Given the description of an element on the screen output the (x, y) to click on. 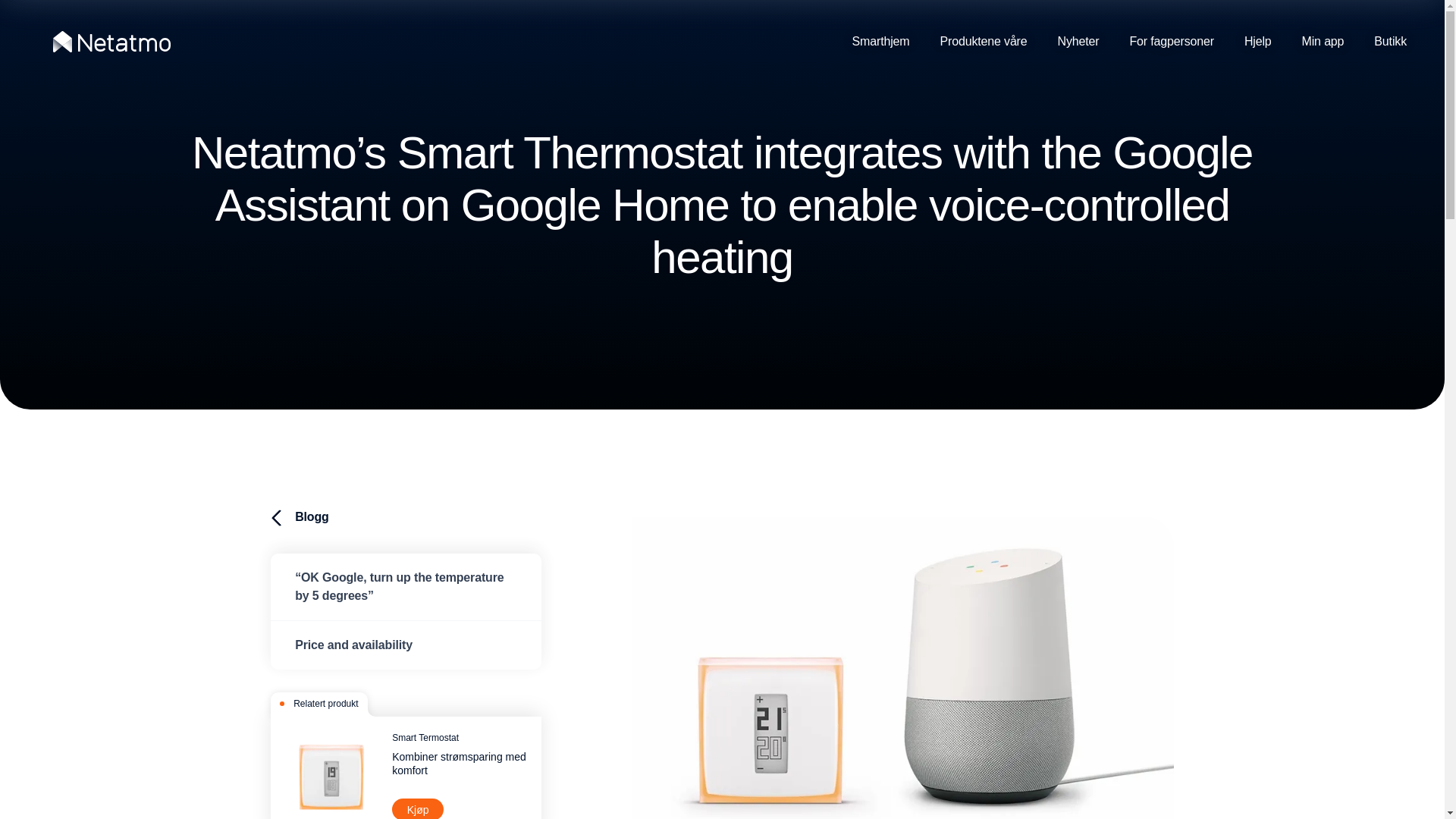
For fagpersoner (1170, 41)
